Given the description of an element on the screen output the (x, y) to click on. 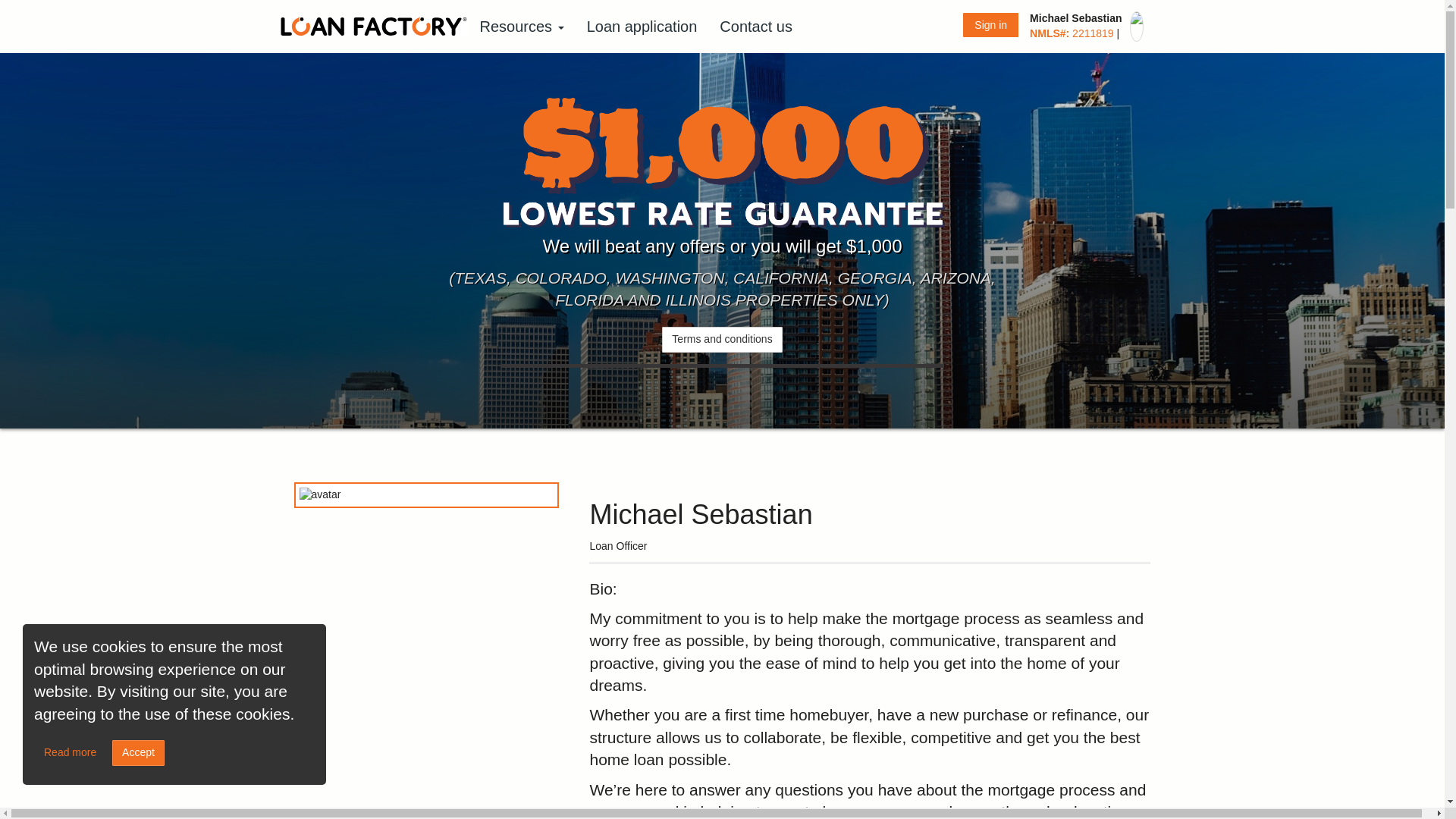
Contact us (755, 26)
Resources (521, 26)
Terms and conditions (721, 339)
Sign in (989, 24)
Loan application (642, 26)
